Given the description of an element on the screen output the (x, y) to click on. 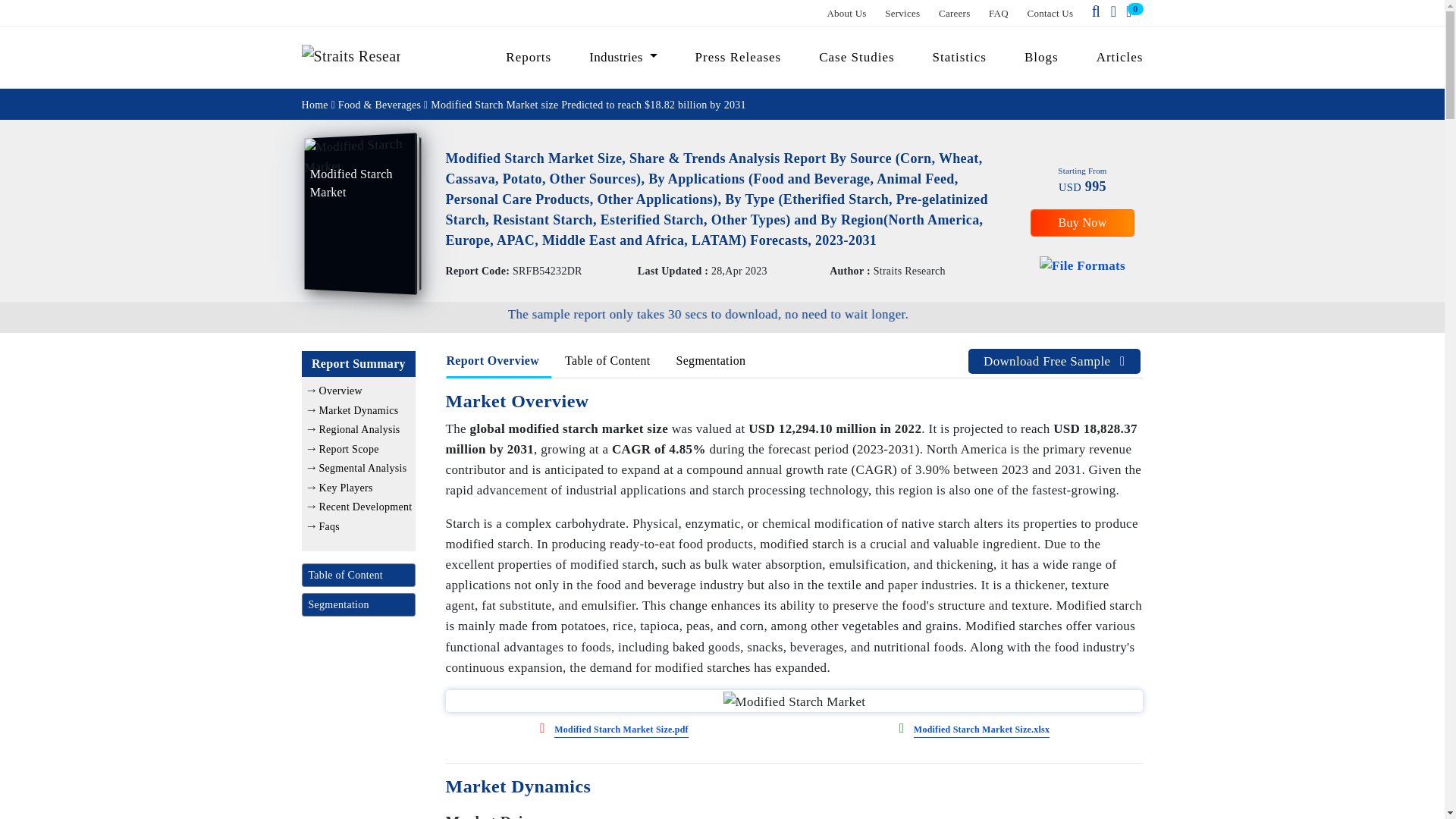
Overview (339, 390)
Report Scope (348, 448)
Articles (1113, 56)
Industries (623, 56)
Segmental Analysis (362, 468)
0 (1130, 11)
Careers (955, 12)
Cart (1130, 11)
Case Studies (856, 56)
Services (902, 12)
